Given the description of an element on the screen output the (x, y) to click on. 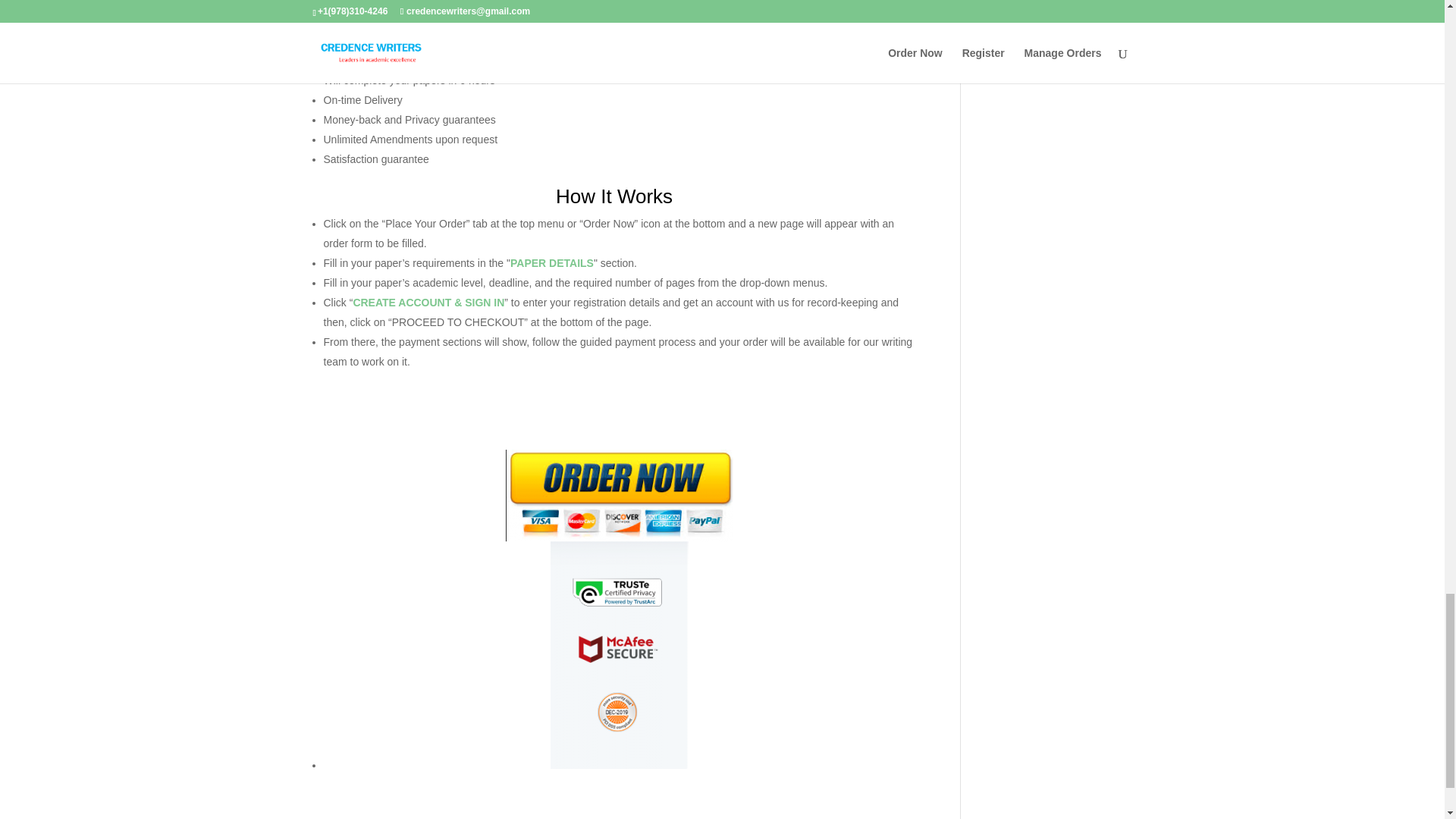
PAPER DETAILS (552, 263)
